Given the description of an element on the screen output the (x, y) to click on. 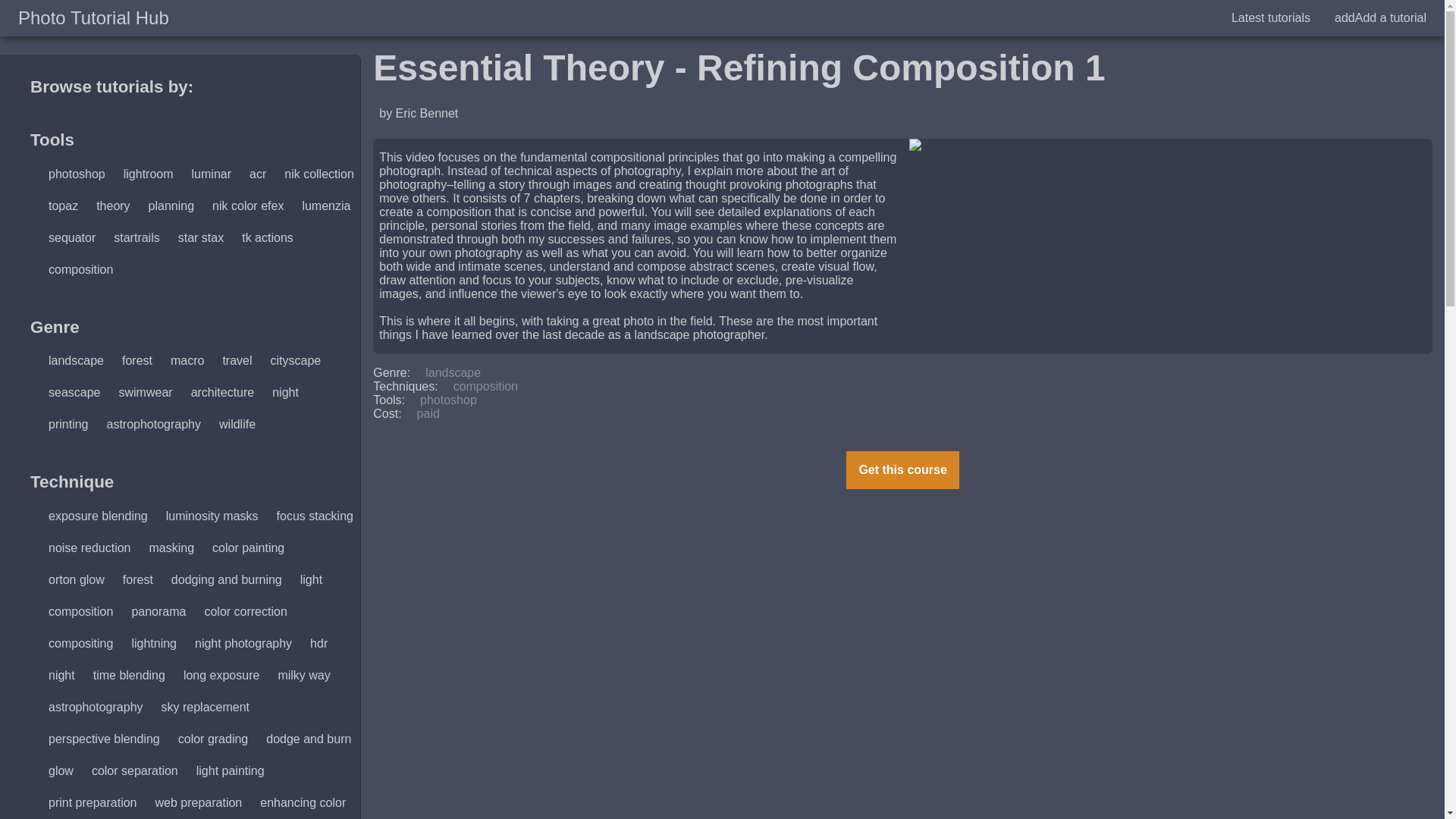
noise reduction (89, 548)
acr (257, 174)
cityscape (295, 360)
topaz (63, 206)
color painting (247, 548)
dodging and burning (226, 579)
luminar (211, 174)
night (285, 392)
forest (137, 579)
photoshop (77, 174)
sequator (71, 237)
astrophotography (153, 424)
orton glow (76, 579)
focus stacking (314, 516)
